Given the description of an element on the screen output the (x, y) to click on. 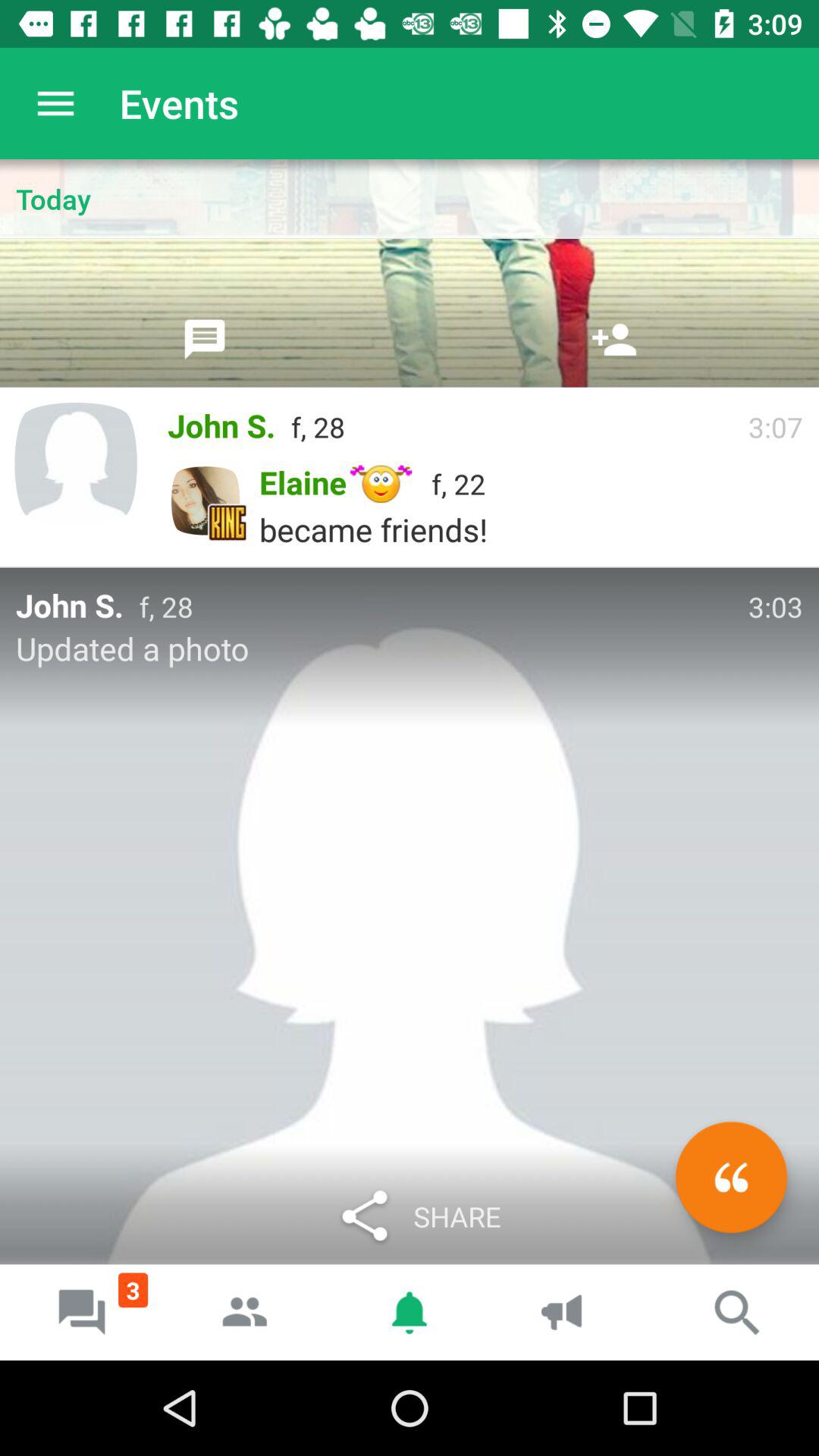
launch the icon to the left of the events icon (55, 103)
